Given the description of an element on the screen output the (x, y) to click on. 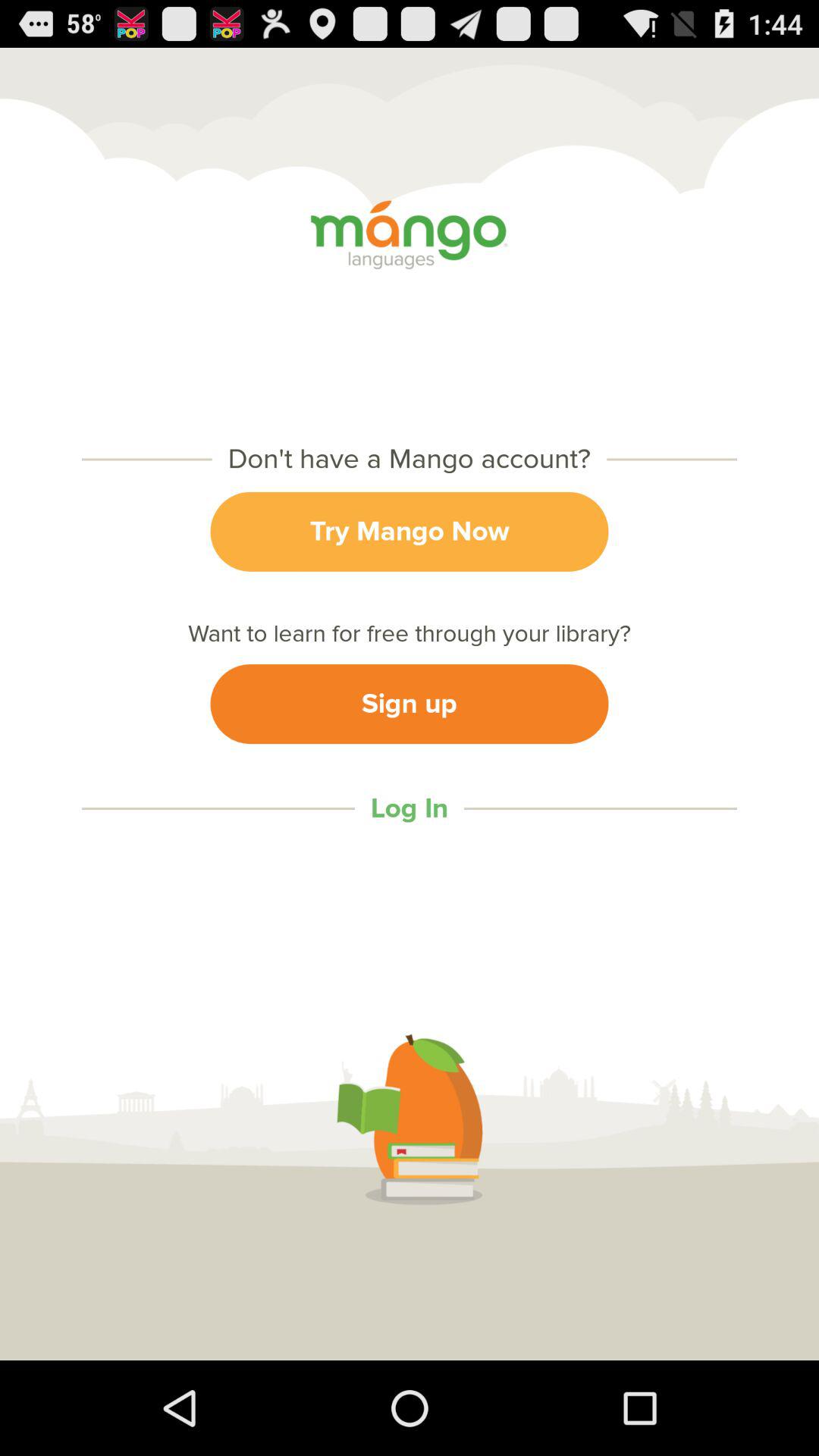
jump until log in item (409, 808)
